Given the description of an element on the screen output the (x, y) to click on. 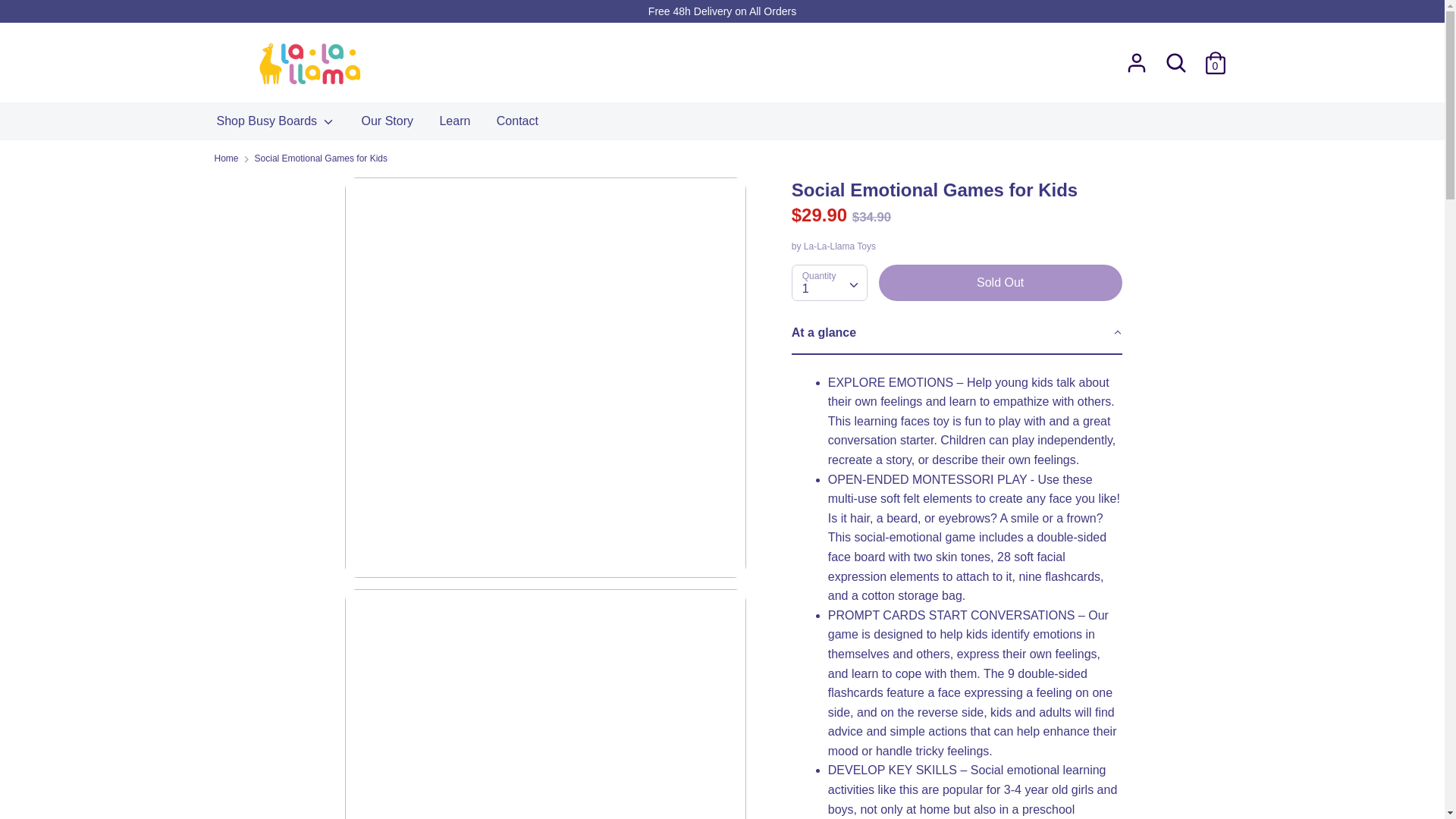
Our Story (387, 125)
Home (226, 158)
Learn (454, 125)
Google Pay (1044, 769)
PayPal (1146, 769)
0 (1214, 56)
Visa (1213, 769)
Shop Busy Boards (275, 125)
Diners Club (977, 769)
Apple Pay (944, 769)
Maestro (1079, 769)
Union Pay (1180, 769)
Discover (1011, 769)
1 (829, 282)
American Express (910, 769)
